Given the description of an element on the screen output the (x, y) to click on. 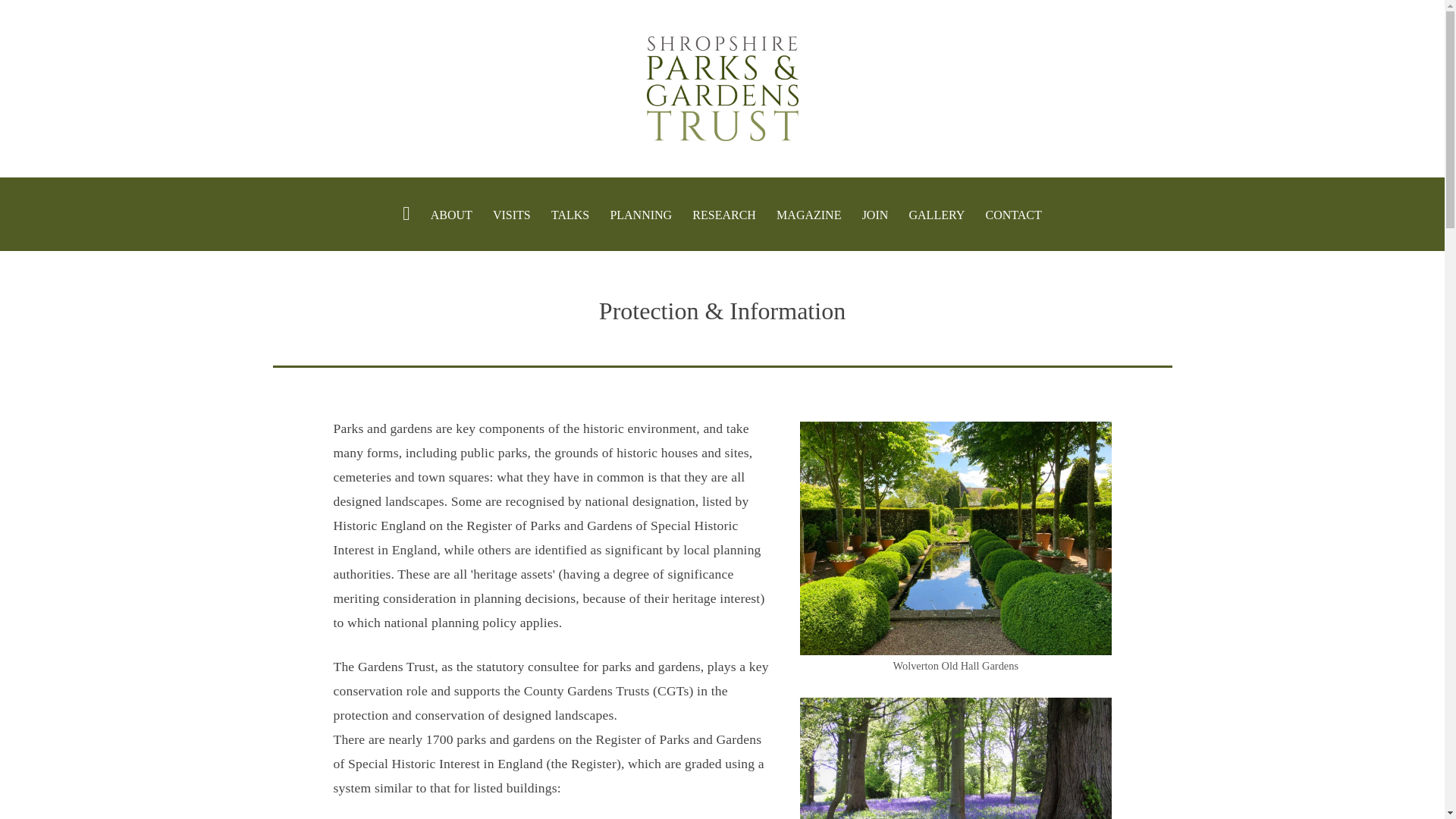
PLANNING (640, 214)
MAGAZINE (809, 214)
RESEARCH (724, 214)
CONTACT (1013, 214)
GALLERY (936, 214)
Millichope Park (954, 758)
Wolverton Old Hall Gardens (954, 547)
